Given the description of an element on the screen output the (x, y) to click on. 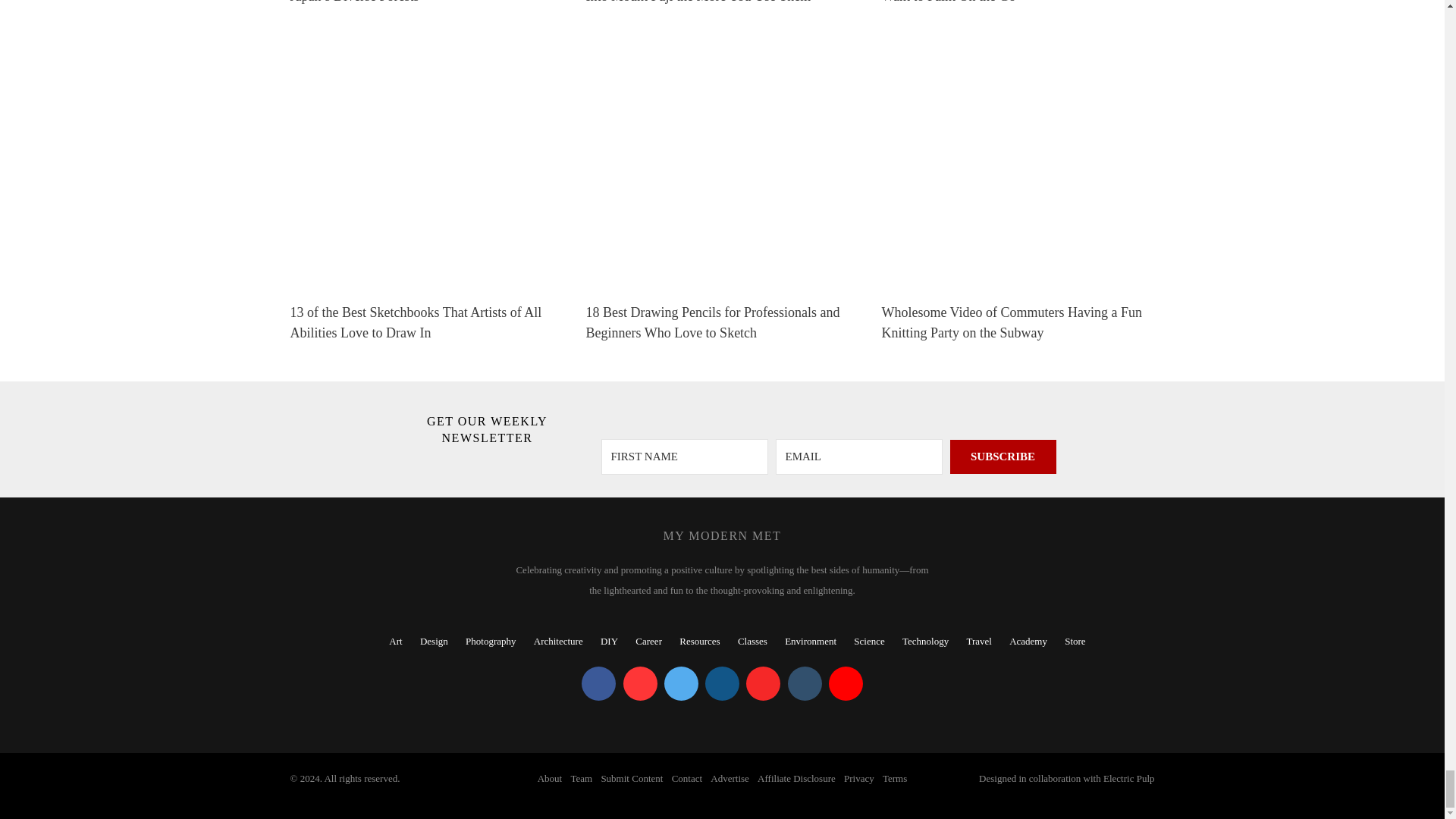
My Modern Met on Pinterest (640, 683)
My Modern Met on Tumblr (804, 683)
My Modern Met on YouTube (845, 683)
My Modern Met on Twitter (680, 683)
My Modern Met on Facebook (597, 683)
My Modern Met on Instagram (721, 683)
